Given the description of an element on the screen output the (x, y) to click on. 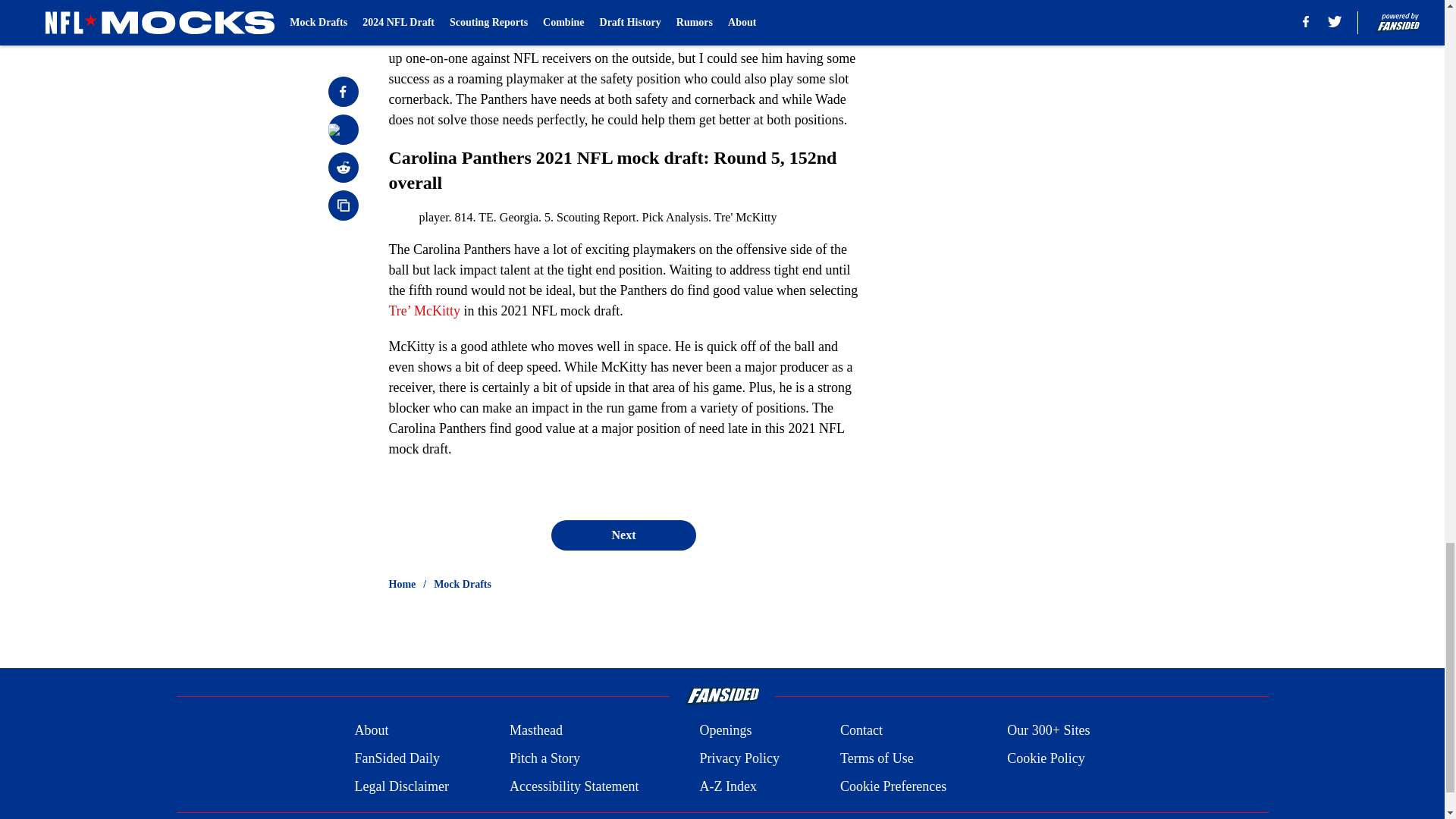
A-Z Index (726, 786)
Mock Drafts (462, 584)
Contact (861, 730)
Privacy Policy (738, 758)
Next (622, 535)
Cookie Policy (1045, 758)
Accessibility Statement (574, 786)
Home (401, 584)
FanSided Daily (396, 758)
Pitch a Story (544, 758)
Openings (724, 730)
Masthead (535, 730)
About (370, 730)
Legal Disclaimer (400, 786)
Terms of Use (877, 758)
